Given the description of an element on the screen output the (x, y) to click on. 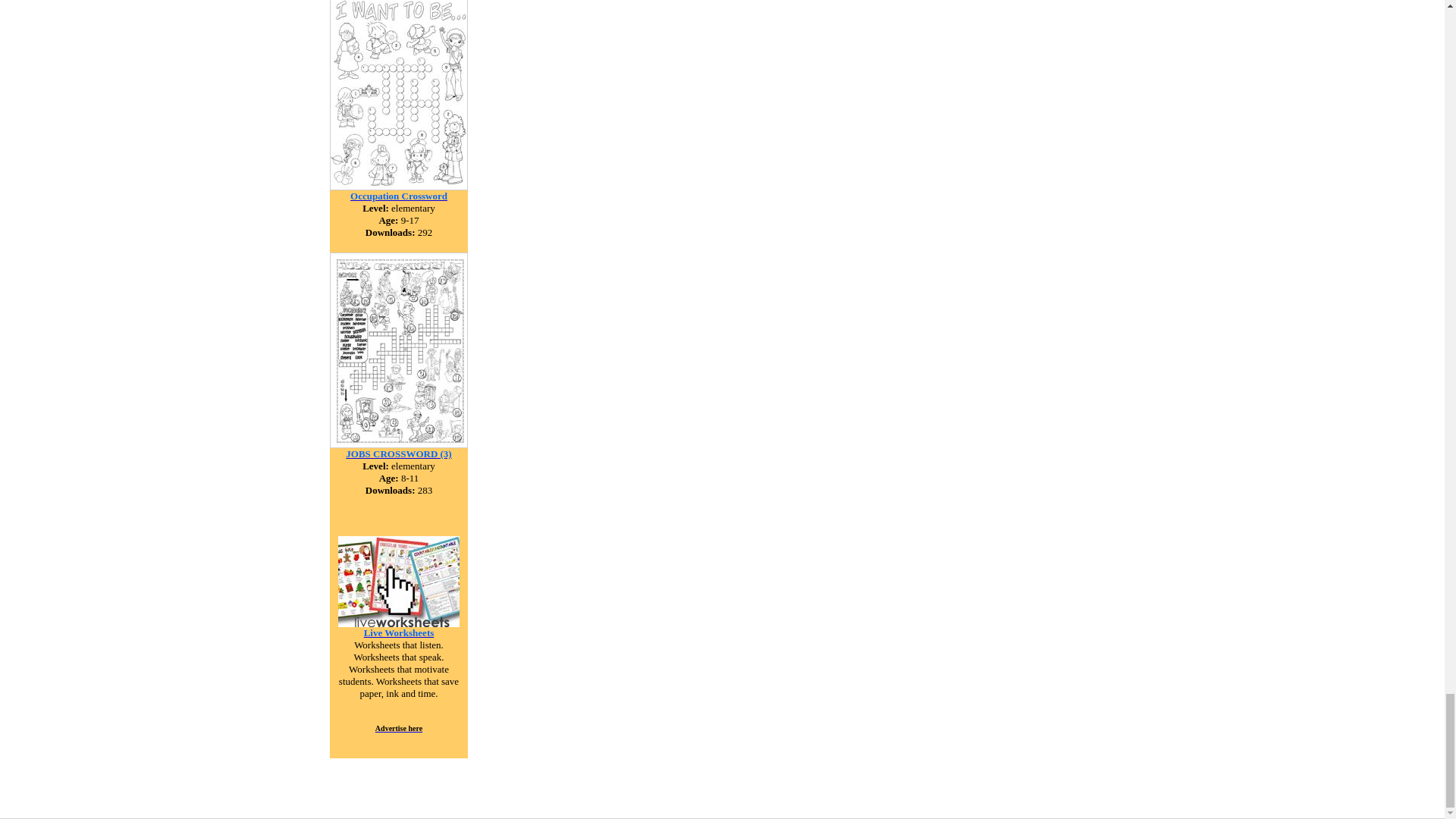
Occupation Crossword (398, 195)
